Given the description of an element on the screen output the (x, y) to click on. 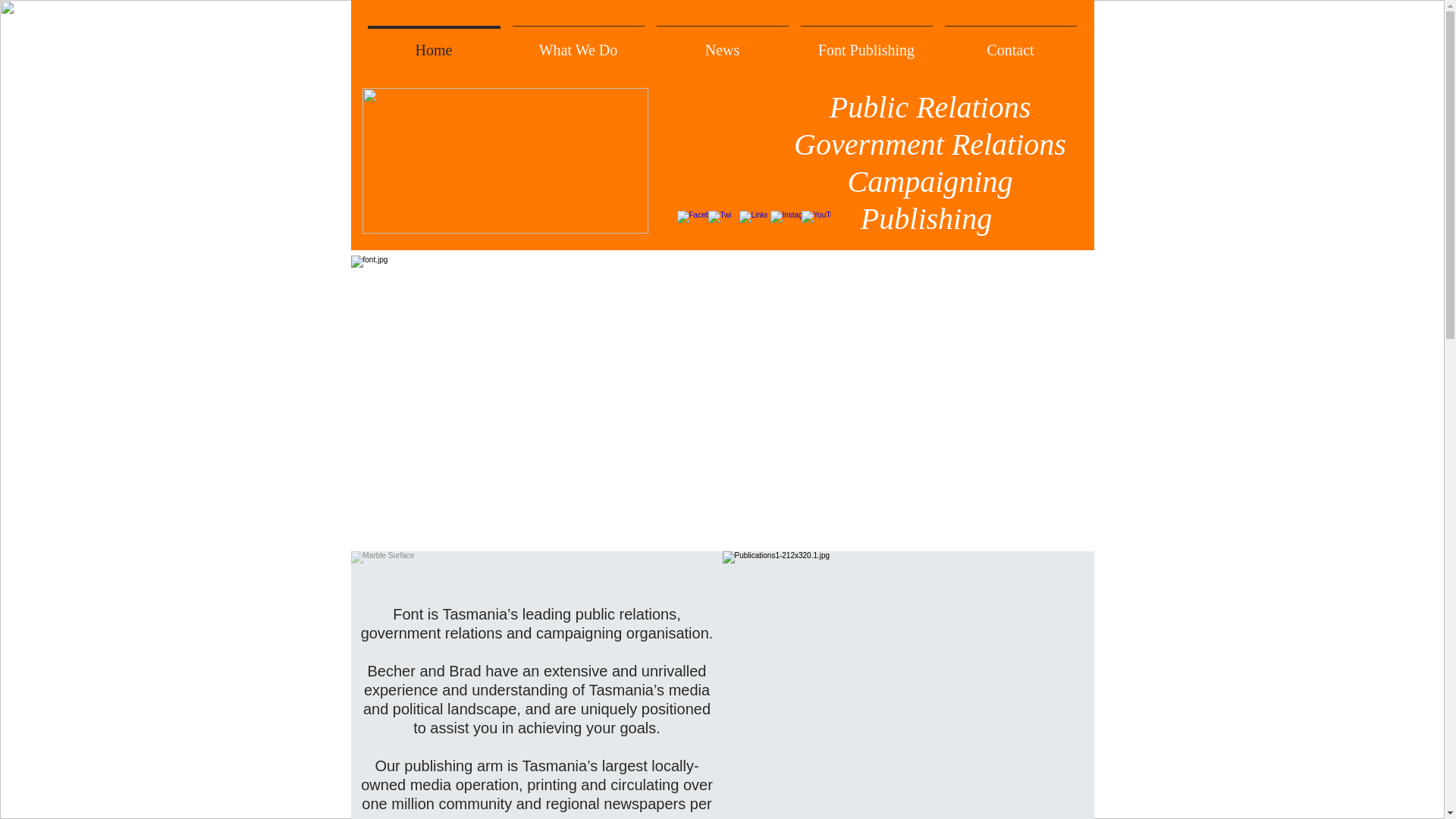
Home Element type: text (432, 43)
Contact Element type: text (1010, 43)
logo.neg.fontpr.png Element type: hover (505, 160)
What We Do Element type: text (578, 43)
News Element type: text (722, 43)
Font Publishing Element type: text (866, 43)
